Given the description of an element on the screen output the (x, y) to click on. 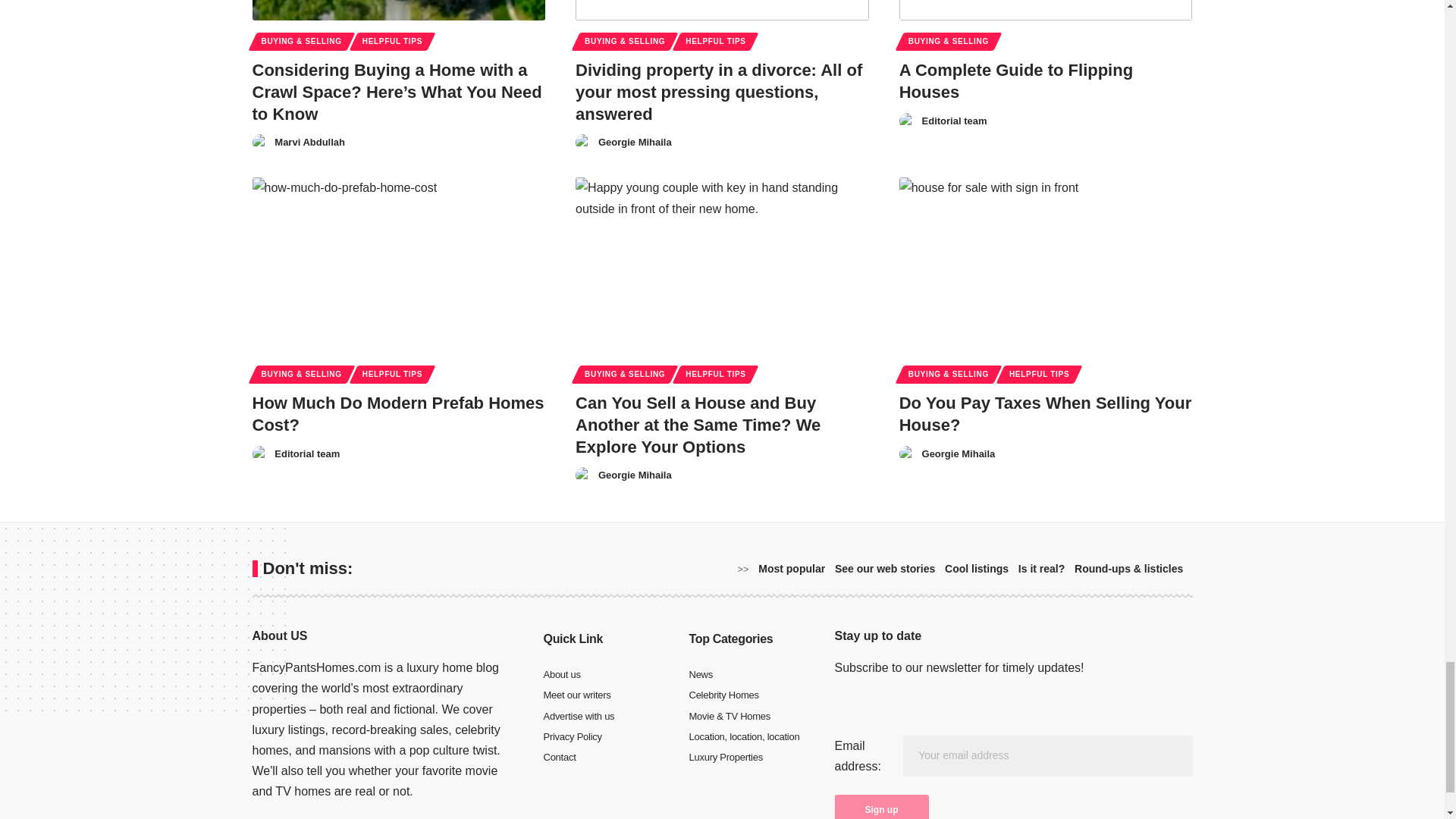
A Complete Guide to Flipping Houses (1045, 10)
Do You Pay Taxes When Selling Your House? (1045, 264)
Sign up (881, 806)
How Much Do Modern Prefab Homes Cost? (397, 264)
